Given the description of an element on the screen output the (x, y) to click on. 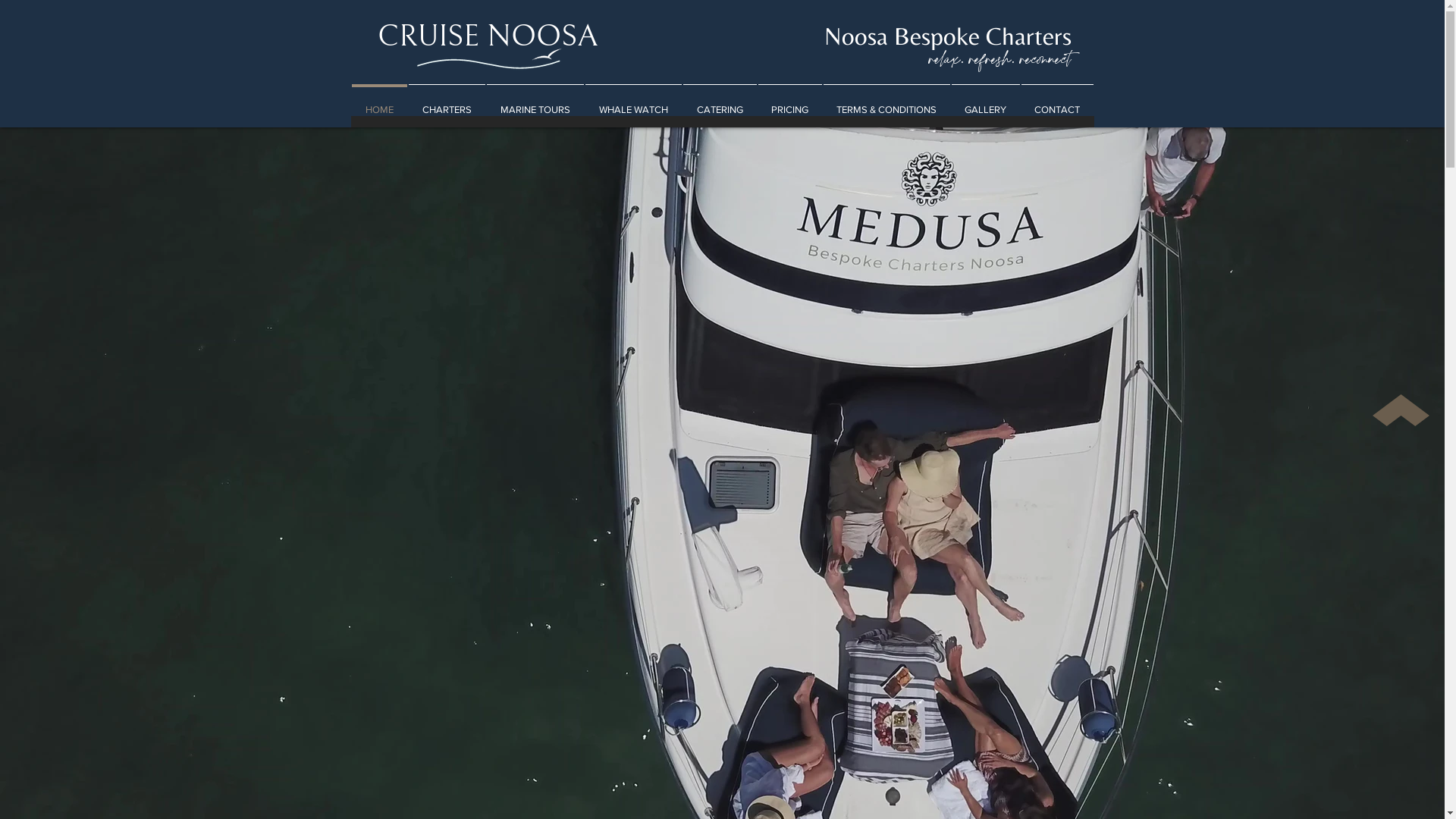
TERMS & CONDITIONS Element type: text (886, 102)
CONTACT Element type: text (1057, 102)
CHARTERS Element type: text (446, 102)
PRICING Element type: text (789, 102)
MARINE TOURS Element type: text (534, 102)
WHALE WATCH Element type: text (632, 102)
HOME Element type: text (378, 102)
GALLERY Element type: text (985, 102)
CATERING Element type: text (719, 102)
